Given the description of an element on the screen output the (x, y) to click on. 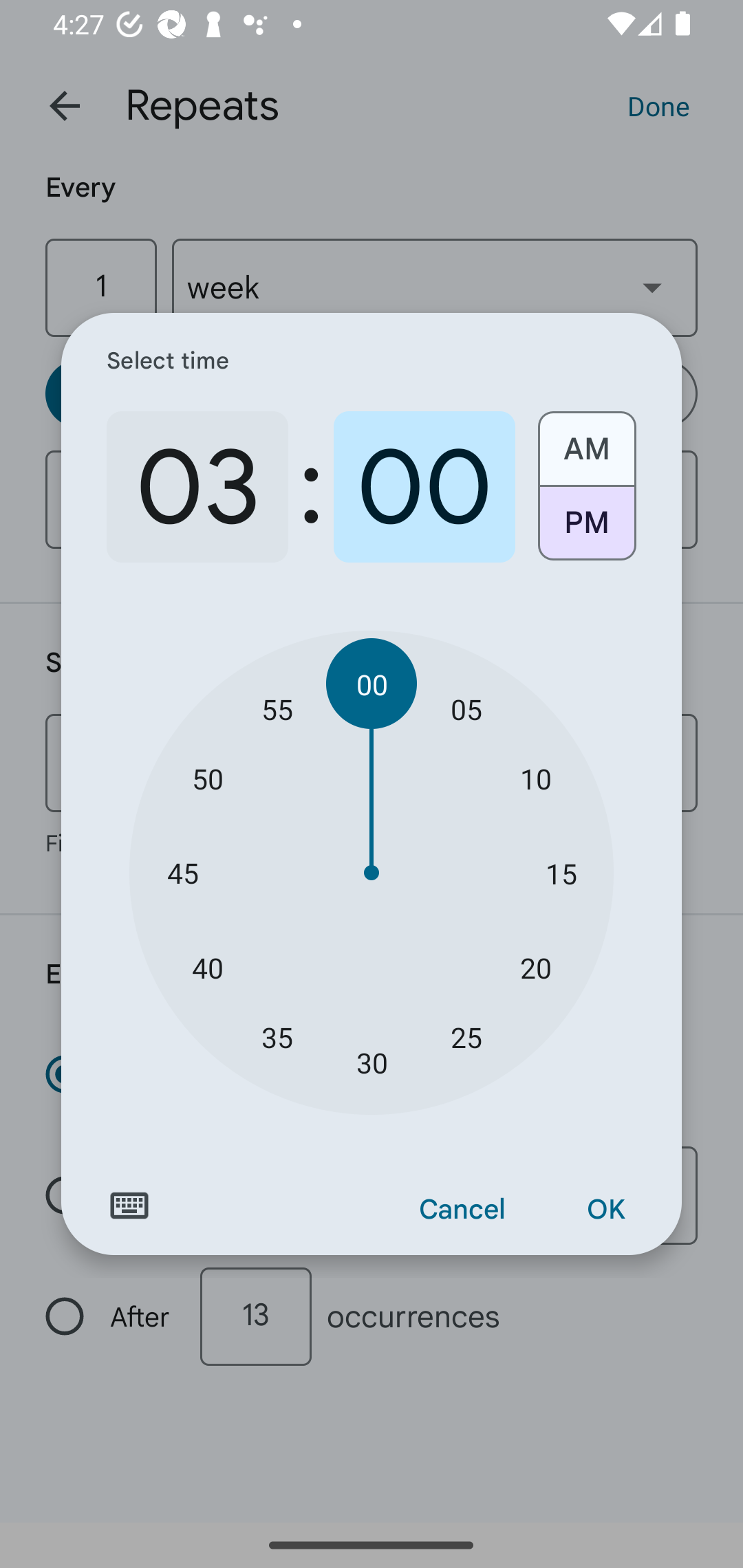
AM (586, 441)
03 3 o'clock (197, 486)
00 0 minutes (424, 486)
PM (586, 529)
00 00 minutes (371, 683)
55 55 minutes (276, 708)
05 05 minutes (466, 708)
50 50 minutes (207, 778)
10 10 minutes (535, 778)
45 45 minutes (182, 872)
15 15 minutes (561, 872)
40 40 minutes (207, 966)
20 20 minutes (535, 966)
35 35 minutes (276, 1035)
25 25 minutes (466, 1035)
30 30 minutes (371, 1062)
Switch to text input mode for the time input. (128, 1205)
Cancel (462, 1209)
OK (605, 1209)
